Given the description of an element on the screen output the (x, y) to click on. 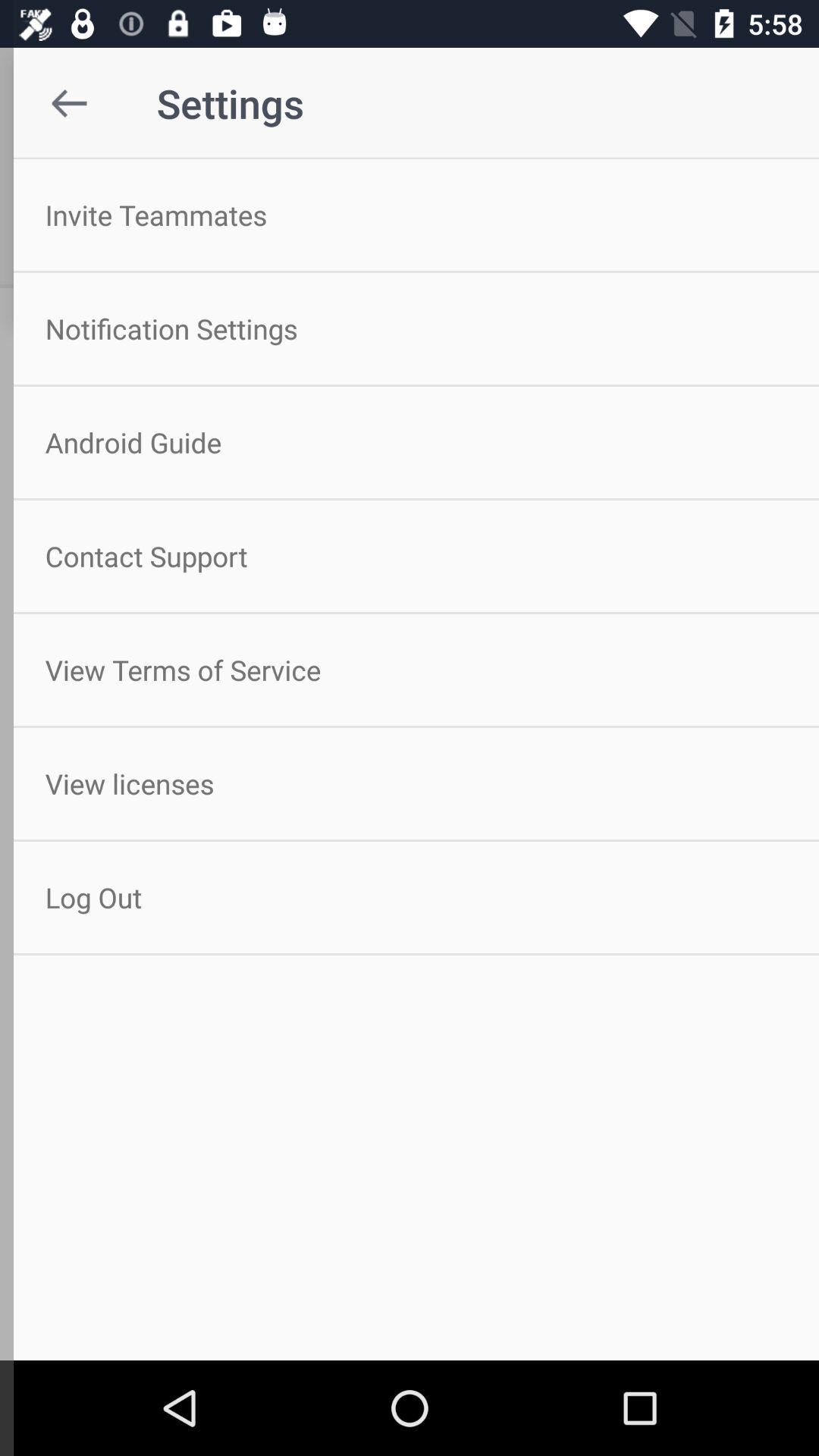
turn off item above android guide (409, 328)
